Given the description of an element on the screen output the (x, y) to click on. 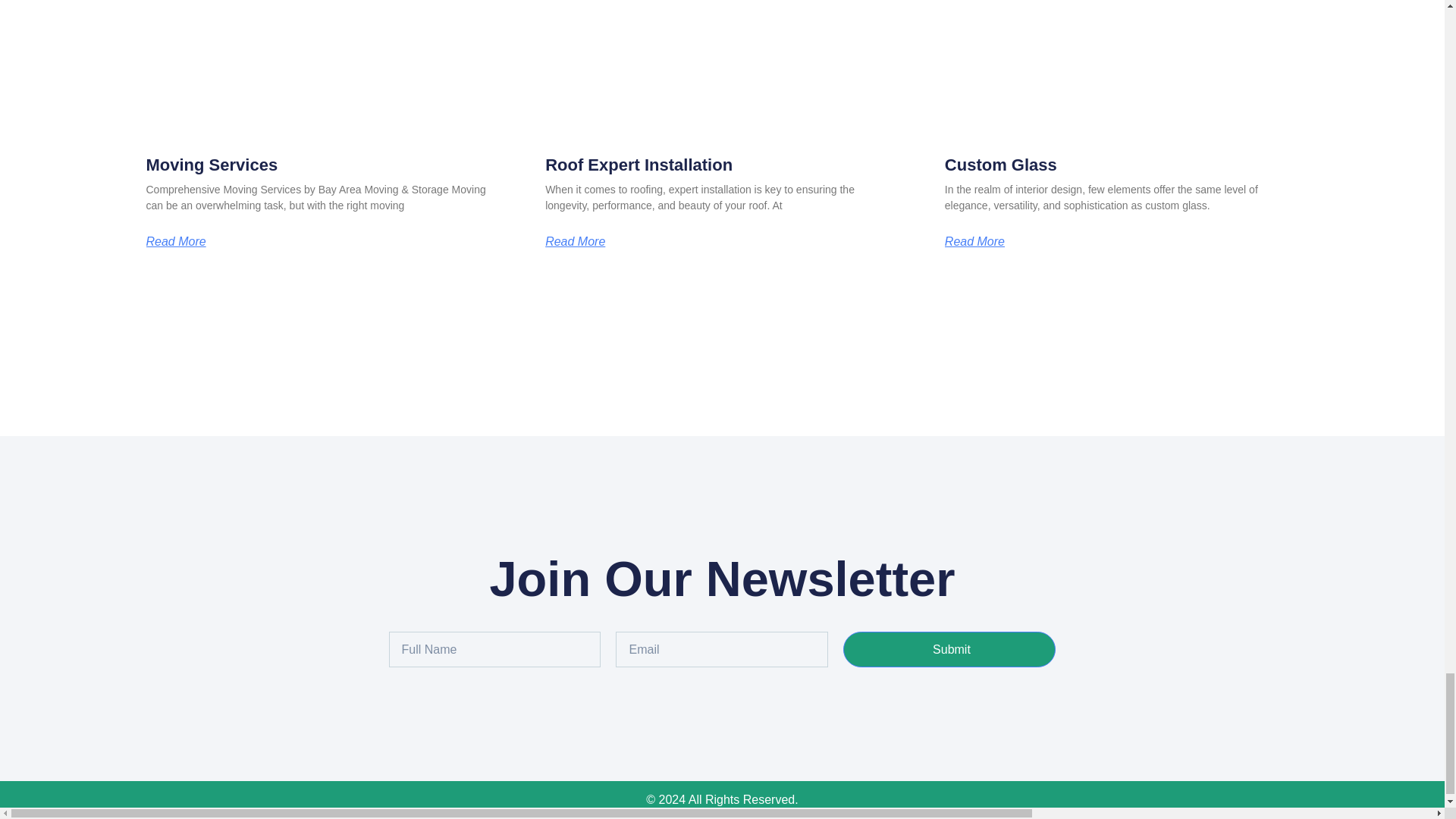
Read More (574, 241)
Moving Services (211, 164)
Read More (175, 241)
Custom Glass (1000, 164)
Submit (949, 649)
Read More (974, 241)
Roof Expert Installation (638, 164)
